Given the description of an element on the screen output the (x, y) to click on. 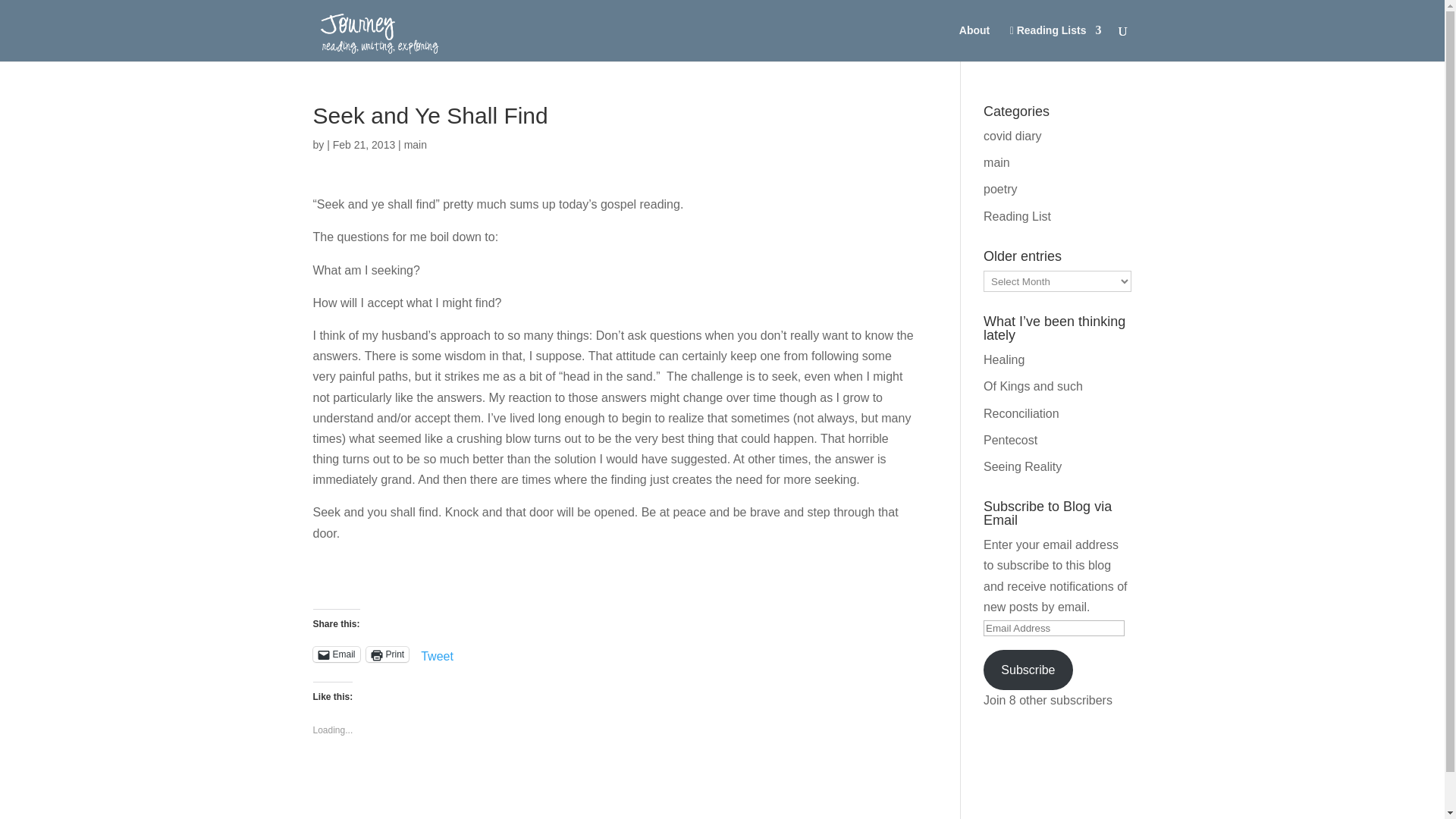
Of Kings and such (1033, 386)
Tweet (436, 653)
main (997, 162)
Click to email a link to a friend (336, 654)
Print (387, 654)
Subscribe (1028, 670)
Email (336, 654)
Healing (1004, 359)
Seeing Reality (1022, 466)
Reconciliation (1021, 413)
